Given the description of an element on the screen output the (x, y) to click on. 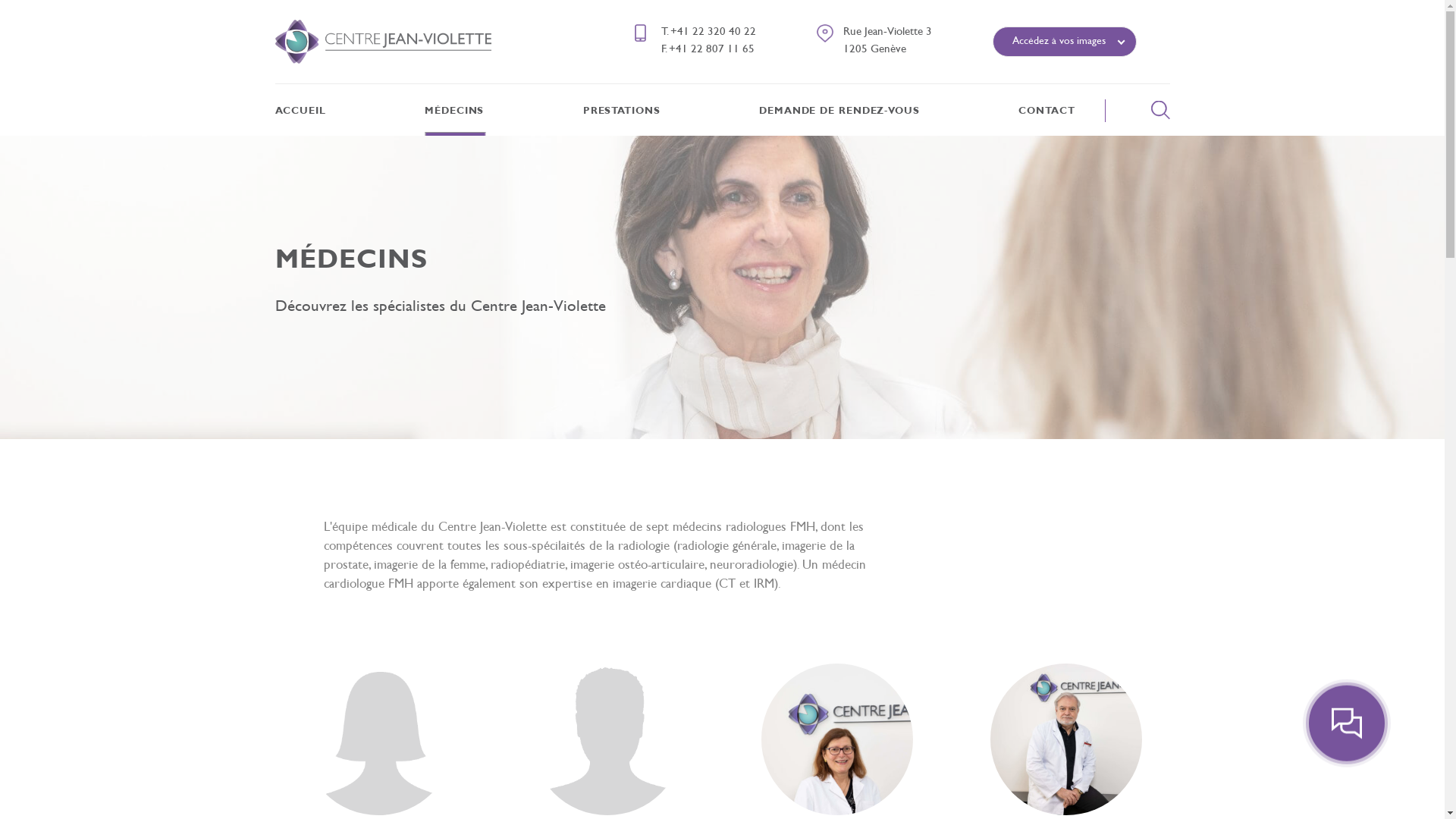
CONTACT Element type: text (1046, 111)
Centre Jean-Violette Element type: hover (382, 41)
T. +41 22 320 40 22 Element type: text (708, 32)
DEMANDE DE RENDEZ-VOUS Element type: text (839, 111)
Rue Jean-Violette 3 Element type: text (887, 32)
ACCUEIL Element type: text (299, 111)
PRESTATIONS Element type: text (621, 111)
